Given the description of an element on the screen output the (x, y) to click on. 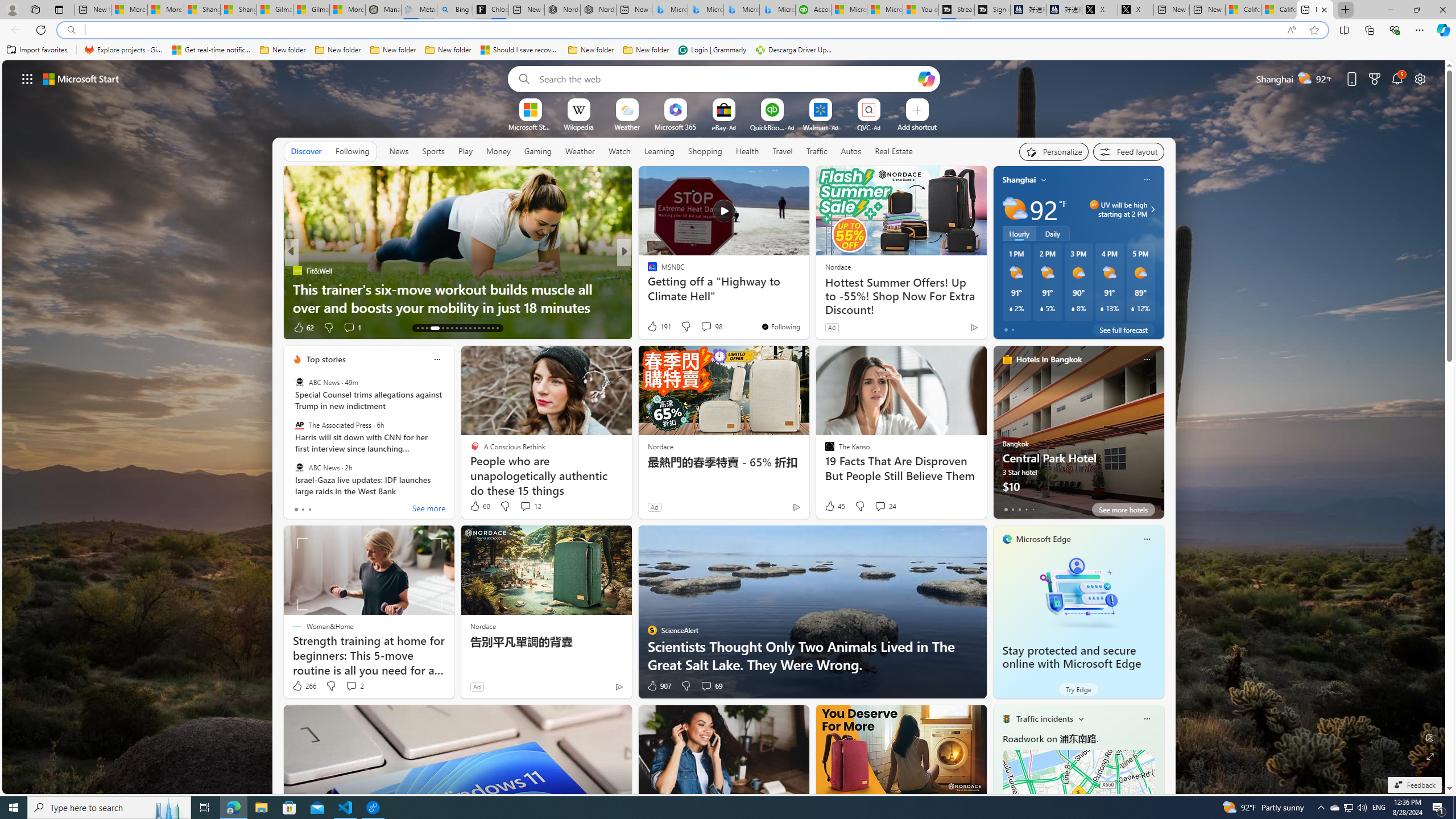
273 Like (654, 327)
Bing Real Estate - Home sales and rental listings (454, 9)
Try Edge (1078, 689)
Partly sunny (1014, 208)
